Given the description of an element on the screen output the (x, y) to click on. 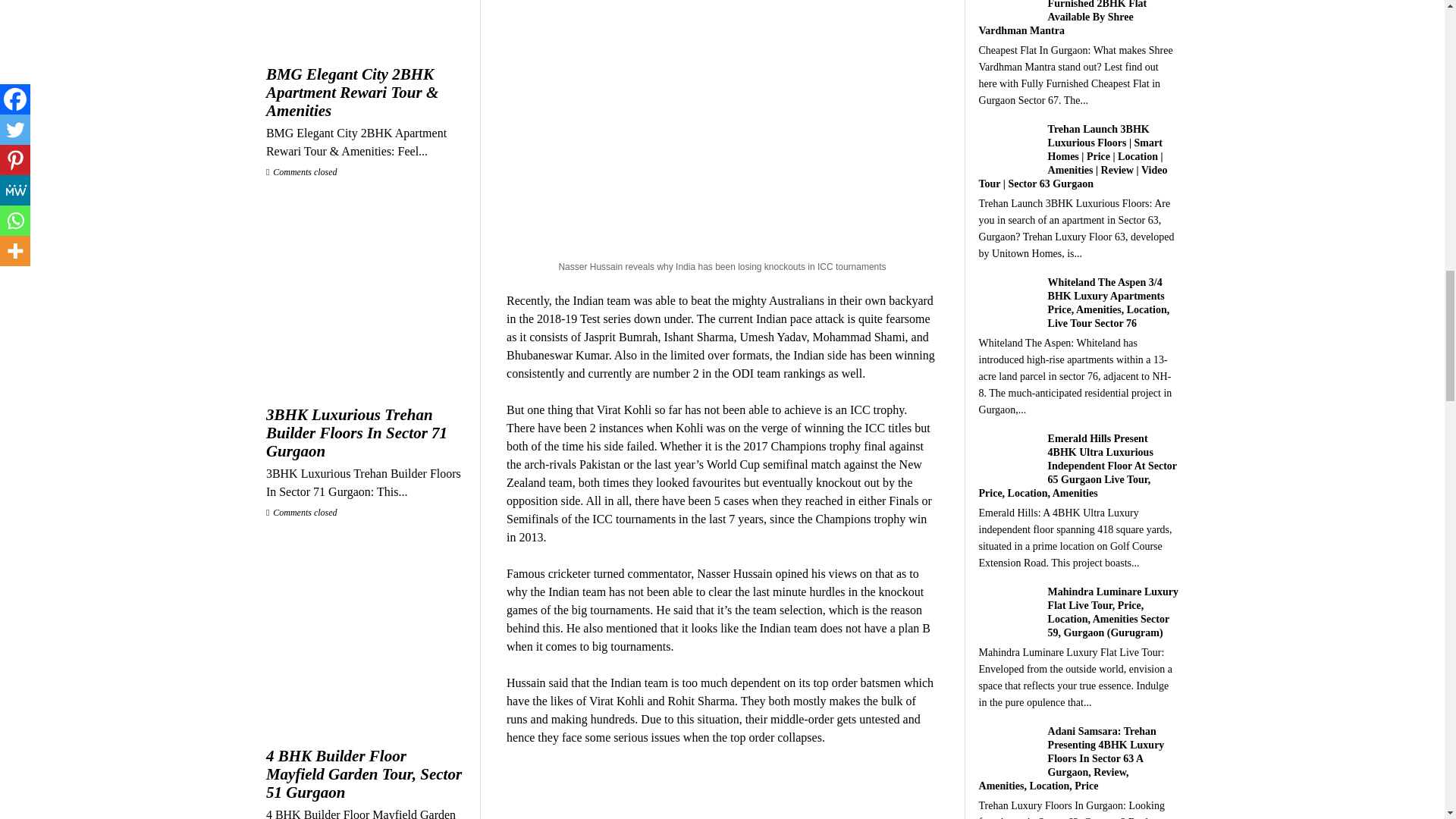
Comments closed (301, 511)
Comments closed (301, 172)
4 BHK Builder Floor Mayfield Garden Tour, Sector 51 Gurgaon (365, 773)
3BHK Luxurious Trehan Builder Floors In Sector 71 Gurgaon (365, 432)
